Given the description of an element on the screen output the (x, y) to click on. 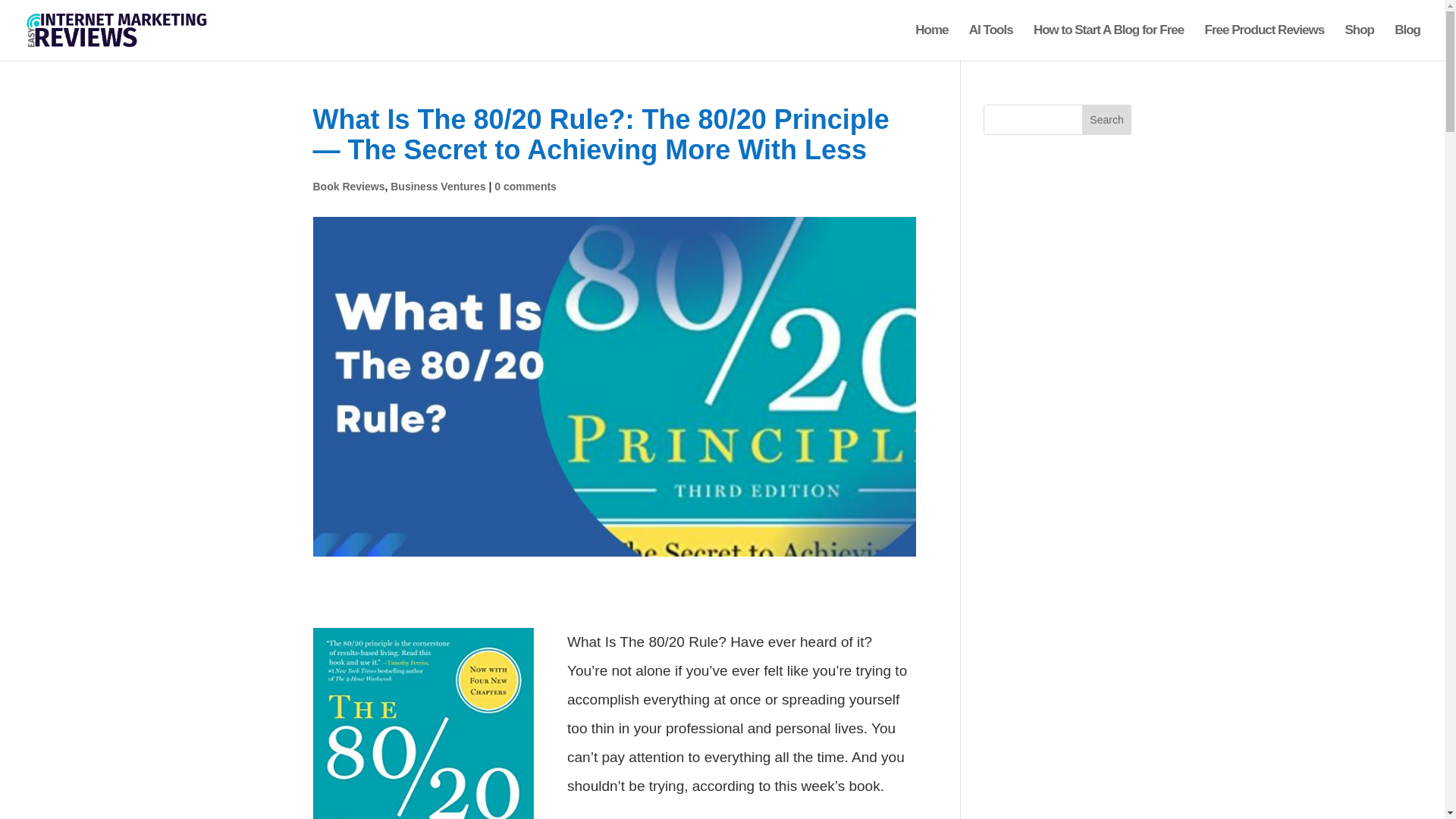
Book Reviews (348, 186)
How to Start A Blog for Free (1108, 42)
AI Tools (991, 42)
Free Product Reviews (1264, 42)
Search (1106, 119)
Business Ventures (437, 186)
0 comments (525, 186)
Home (931, 42)
Search (1106, 119)
What Is The 80-20 Rule (423, 723)
